Given the description of an element on the screen output the (x, y) to click on. 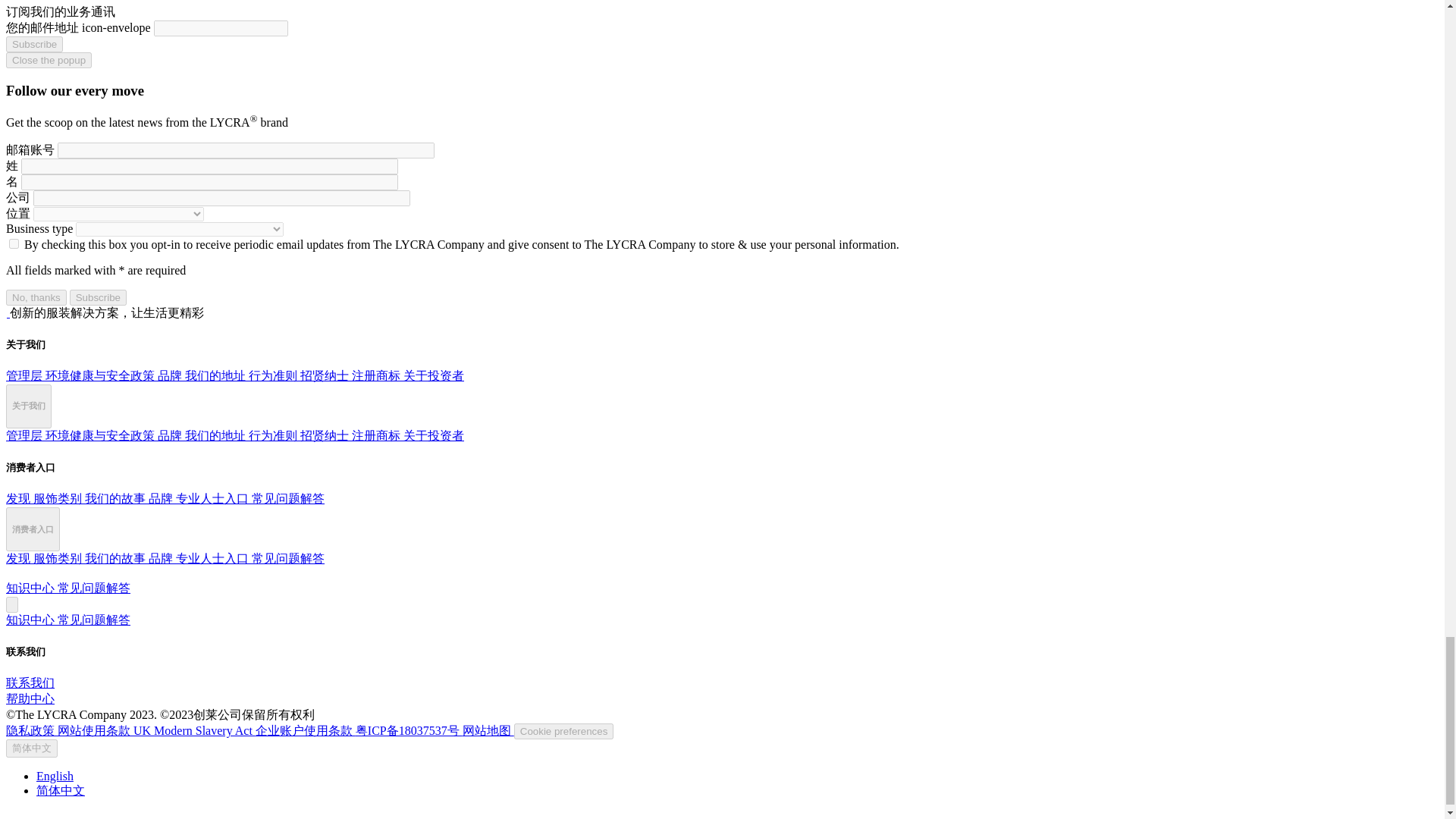
1 (13, 243)
No, thanks (35, 297)
Subscribe (97, 297)
